Given the description of an element on the screen output the (x, y) to click on. 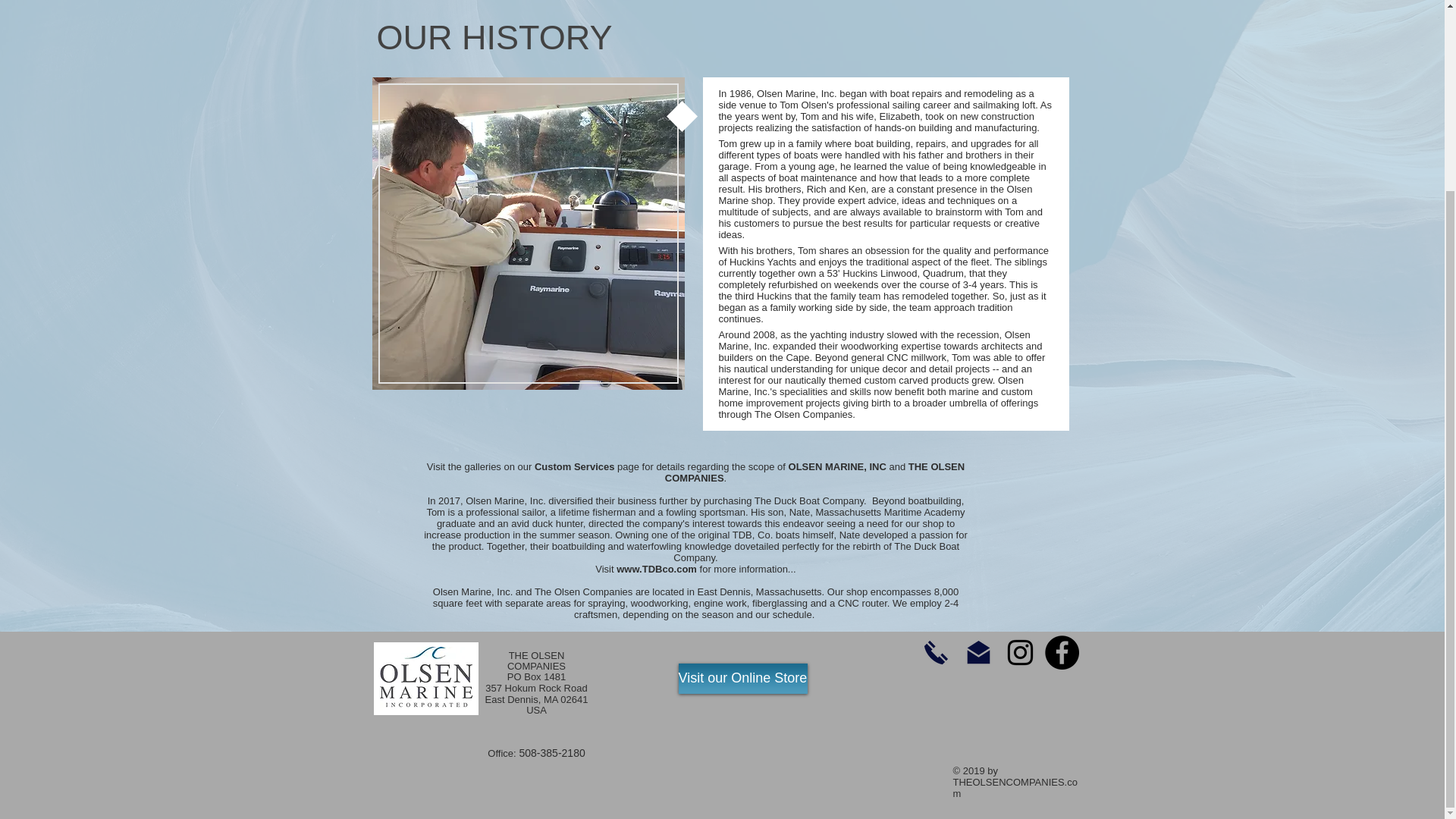
Custom Services (574, 466)
Visit our Online Store (742, 677)
www.TDBco.com (656, 568)
